Given the description of an element on the screen output the (x, y) to click on. 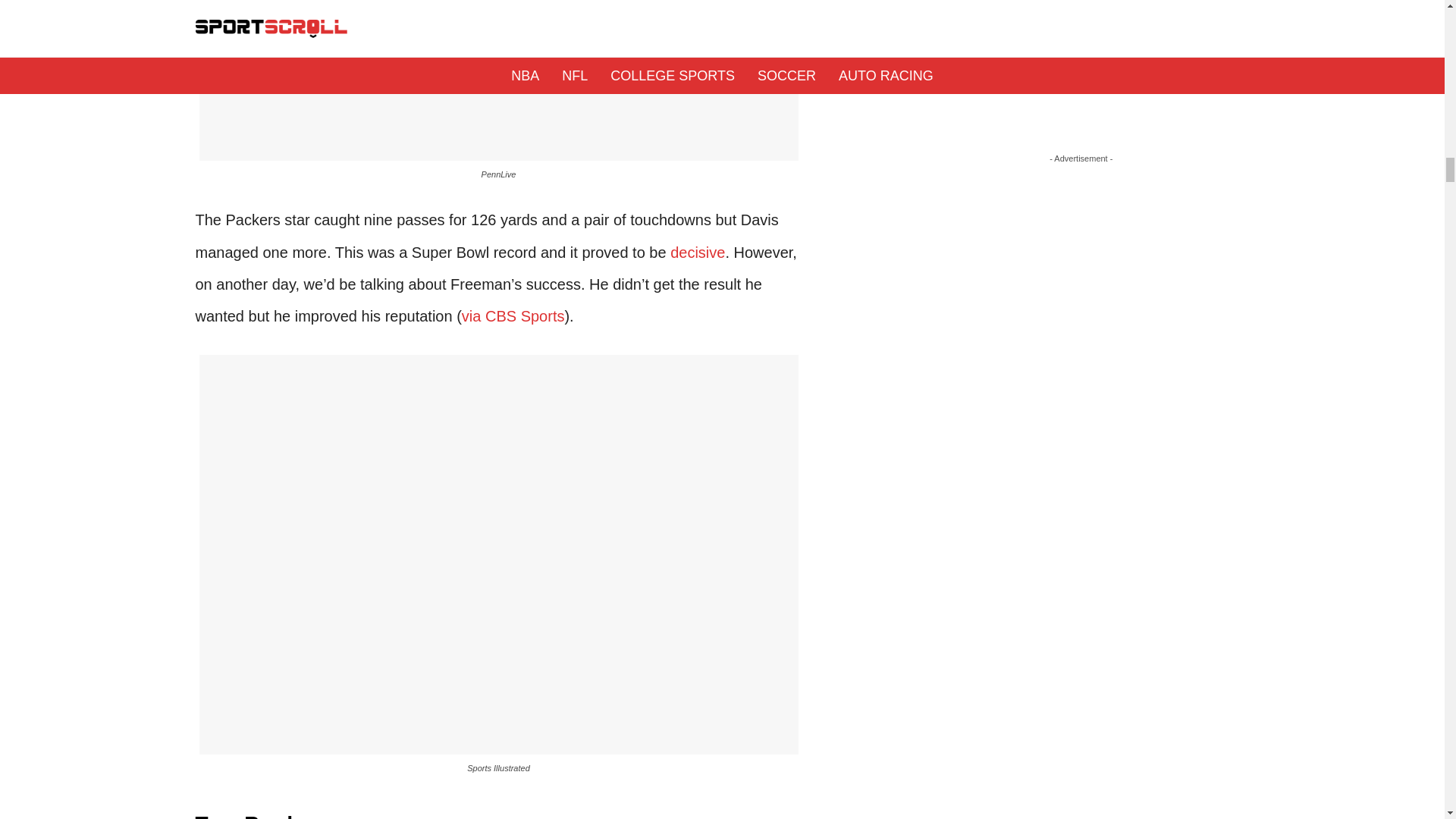
decisive (697, 252)
via CBS Sports (512, 315)
